Given the description of an element on the screen output the (x, y) to click on. 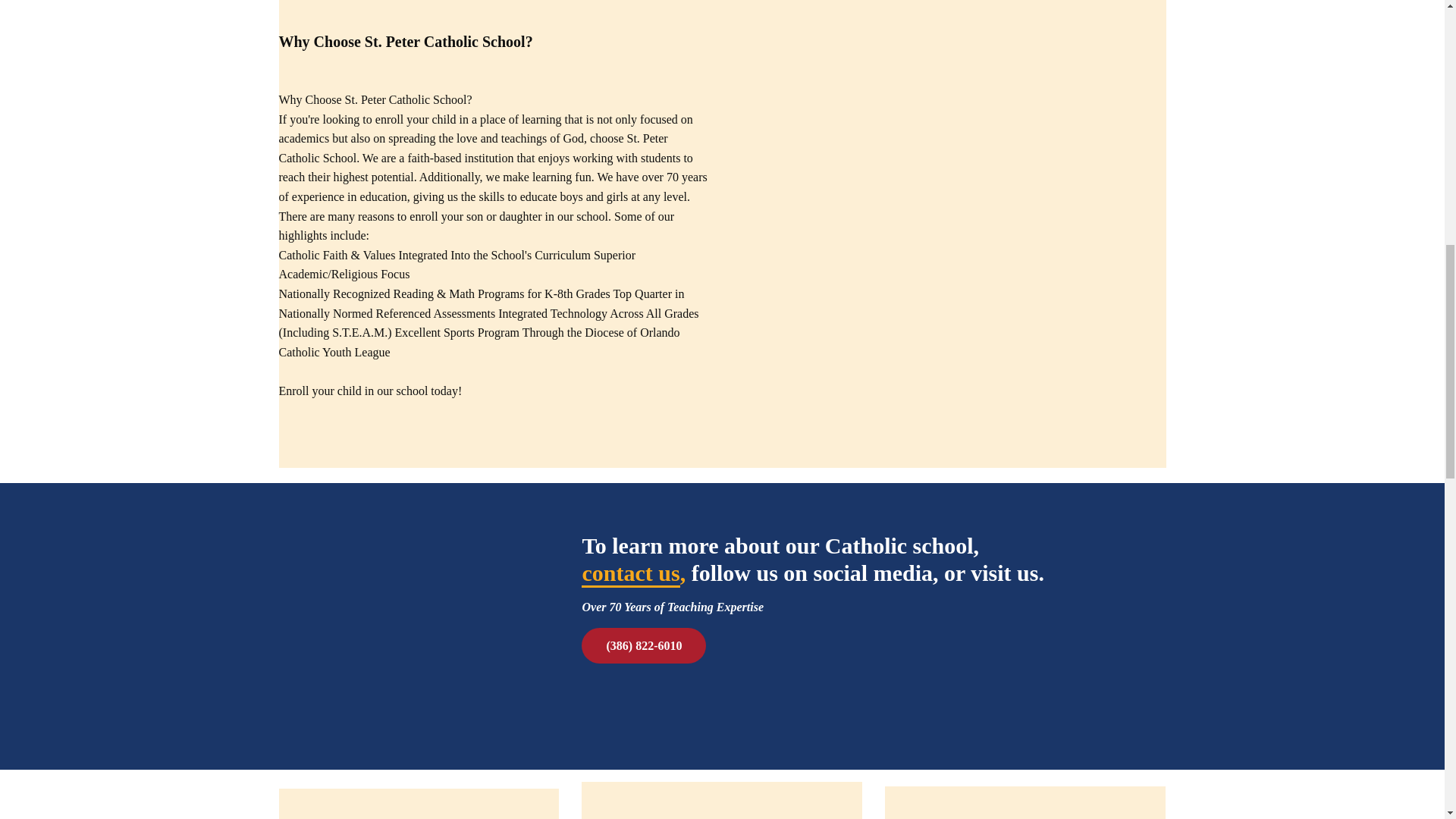
contact us (629, 574)
